Given the description of an element on the screen output the (x, y) to click on. 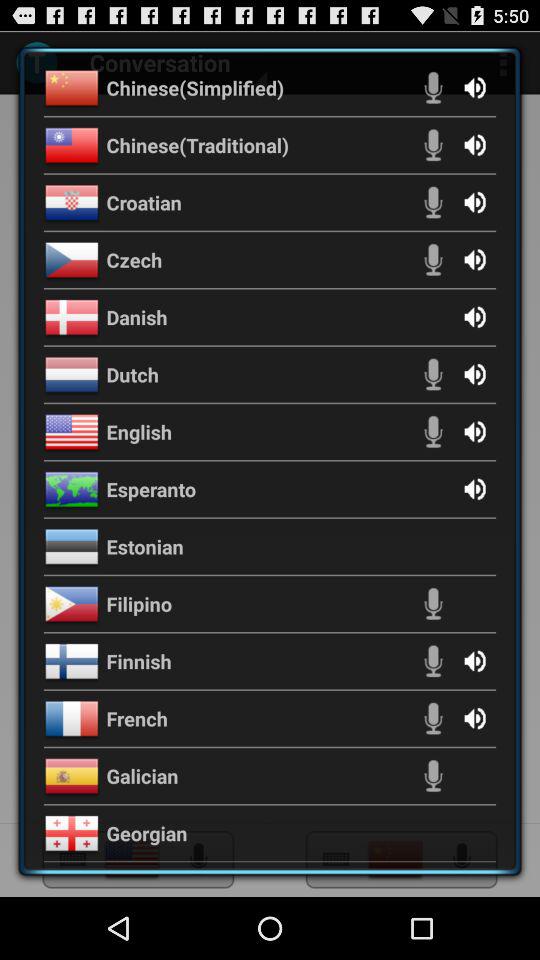
click finnish item (138, 661)
